Given the description of an element on the screen output the (x, y) to click on. 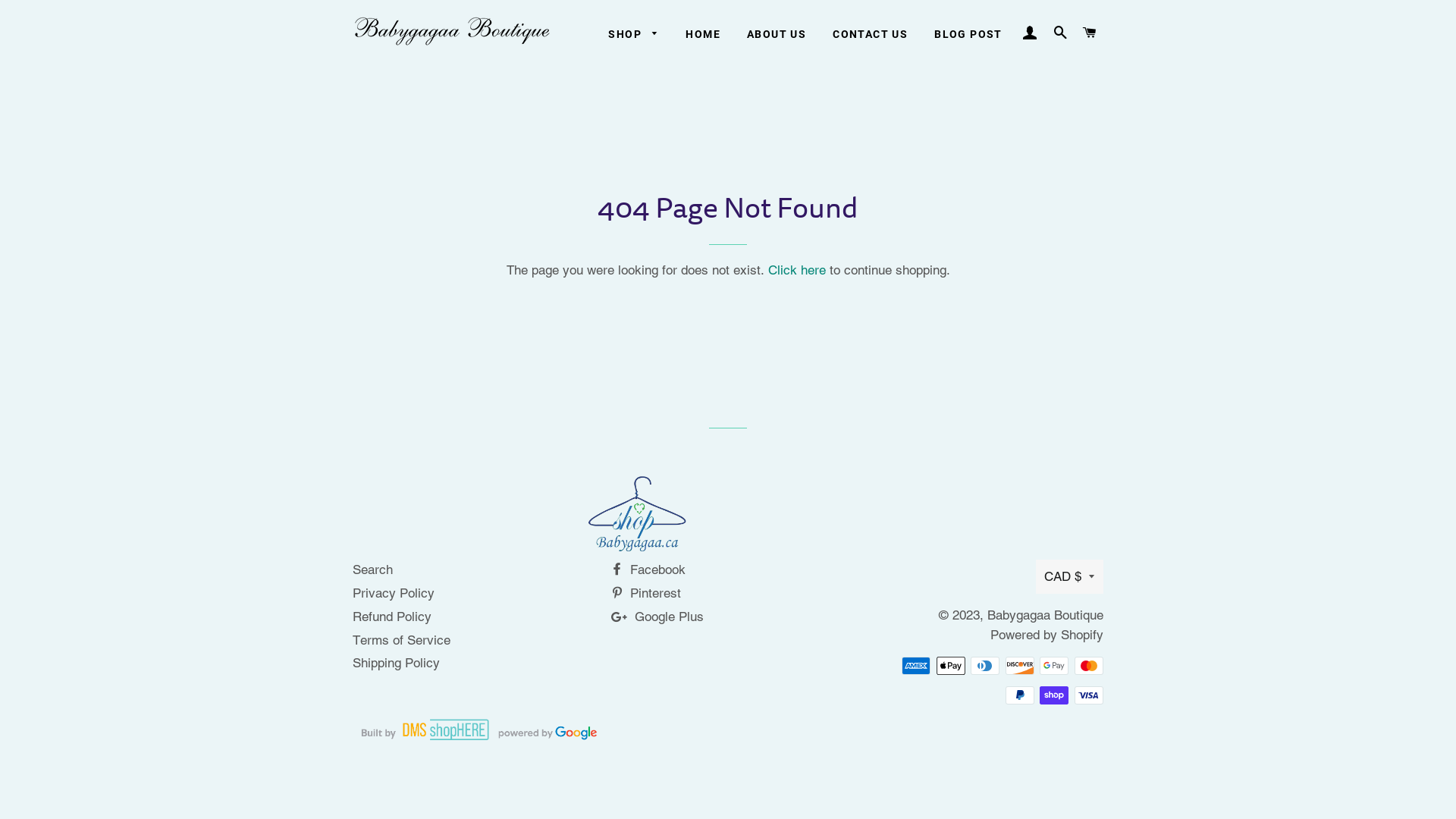
Search Element type: text (372, 569)
Shipping Policy Element type: text (395, 662)
SEARCH Element type: text (1060, 33)
CONTACT US Element type: text (870, 34)
Pinterest Element type: text (645, 592)
CAD $ Element type: text (1069, 576)
Google Plus Element type: text (656, 616)
Babygagaa Boutique Element type: text (1045, 614)
SHOP Element type: text (633, 34)
ABOUT US Element type: text (776, 34)
HOME Element type: text (702, 34)
Facebook Element type: text (647, 569)
CART Element type: text (1090, 33)
Terms of Service Element type: text (401, 639)
Privacy Policy Element type: text (393, 592)
Refund Policy Element type: text (391, 616)
BLOG POST Element type: text (967, 34)
LOG IN Element type: text (1030, 33)
Click here Element type: text (796, 269)
Powered by Shopify Element type: text (1046, 634)
